Given the description of an element on the screen output the (x, y) to click on. 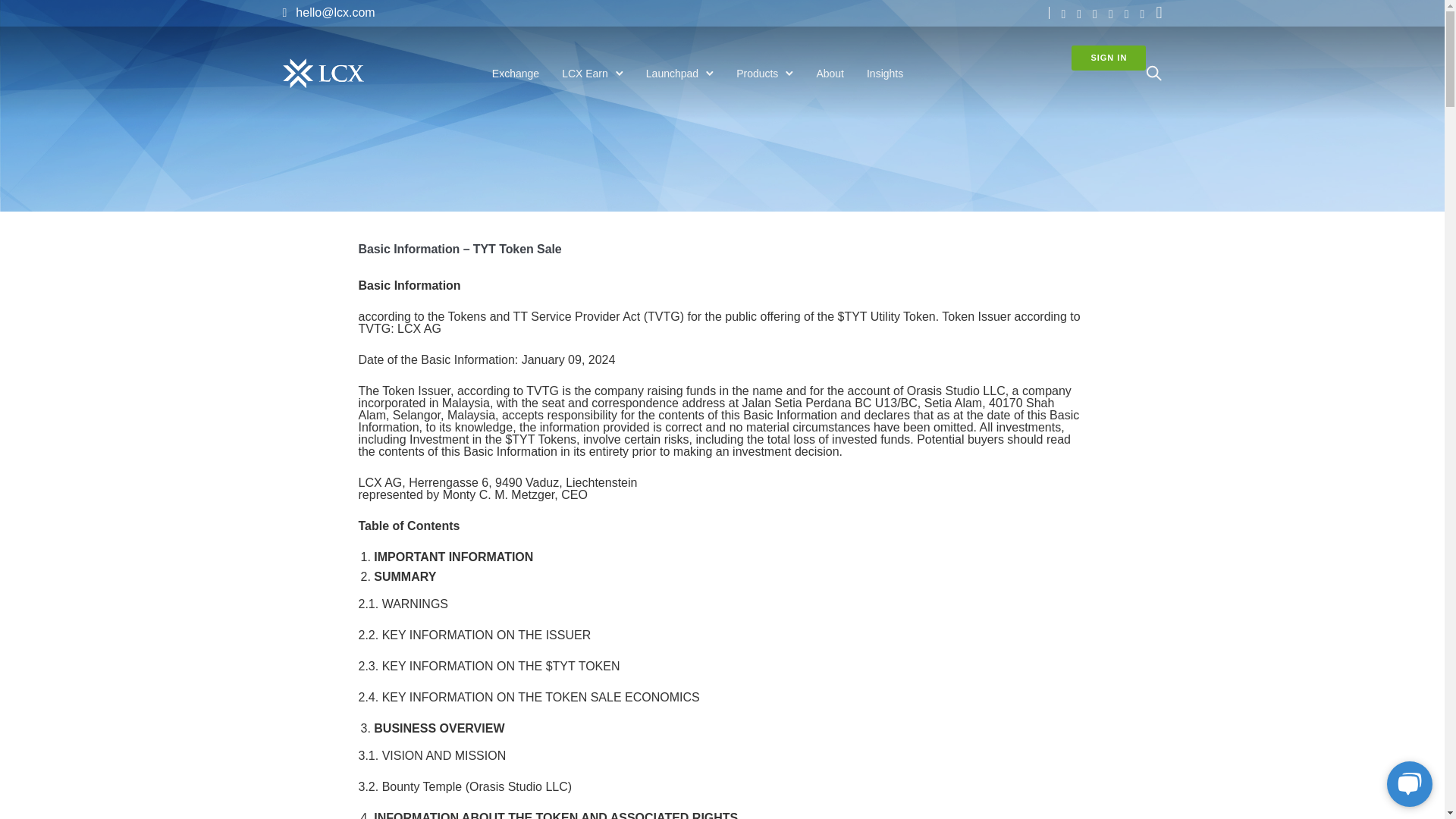
Products (757, 72)
LCX Earn (584, 72)
Exchange (515, 72)
Exchange (515, 72)
Insights (885, 72)
Products (757, 72)
LCX Earn (584, 72)
Launchpad (672, 72)
Launchpad (672, 72)
About (829, 72)
